Given the description of an element on the screen output the (x, y) to click on. 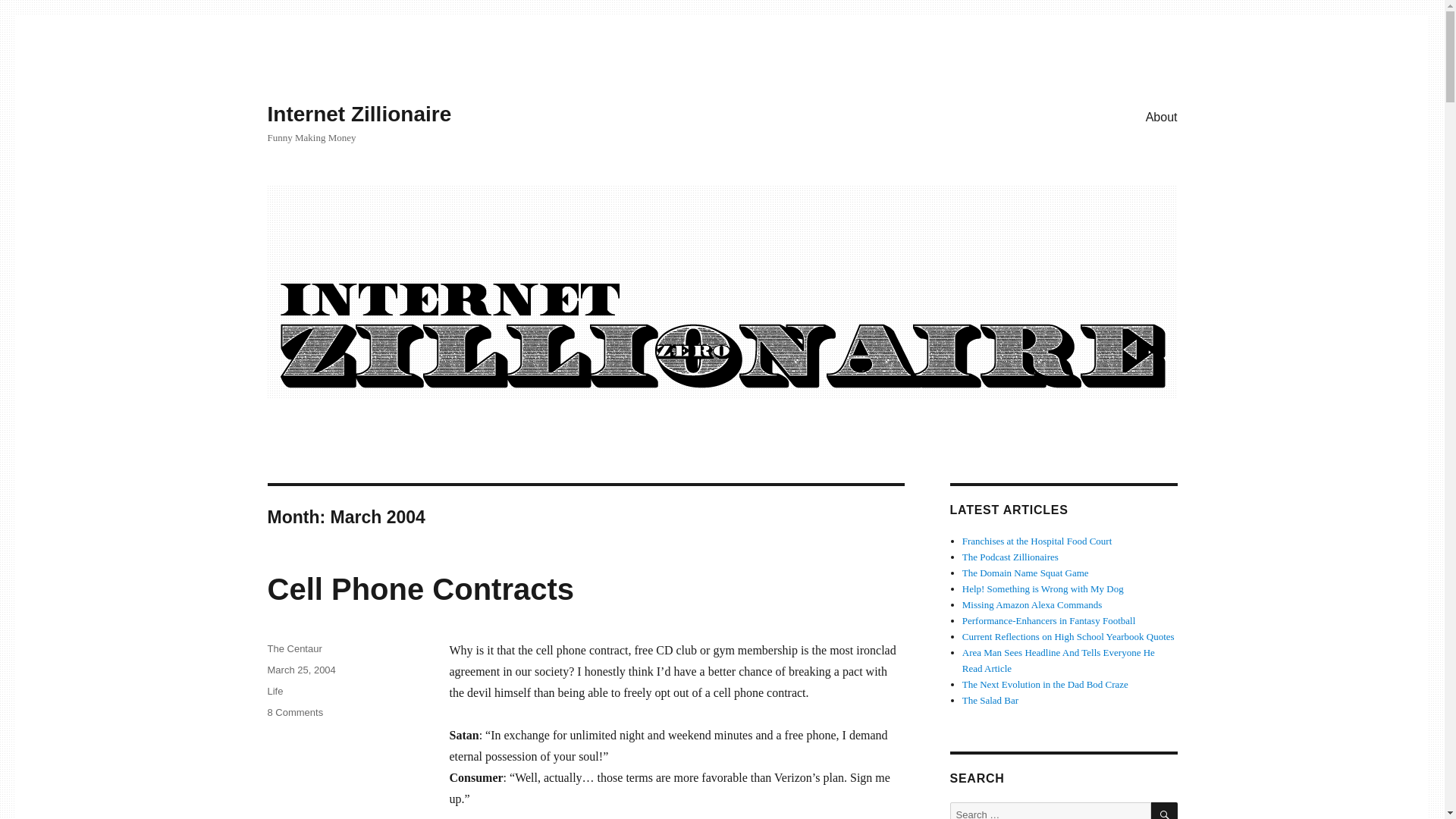
Current Reflections on High School Yearbook Quotes (1068, 636)
Franchises at the Hospital Food Court (1037, 541)
About (1161, 116)
Cell Phone Contracts (419, 589)
Performance-Enhancers in Fantasy Football (1048, 620)
Internet Zillionaire (358, 114)
Missing Amazon Alexa Commands (1032, 604)
Help! Something is Wrong with My Dog (1043, 588)
The Domain Name Squat Game (294, 712)
The Centaur (1025, 572)
The Podcast Zillionaires (293, 648)
Life (1010, 556)
March 25, 2004 (274, 690)
